Given the description of an element on the screen output the (x, y) to click on. 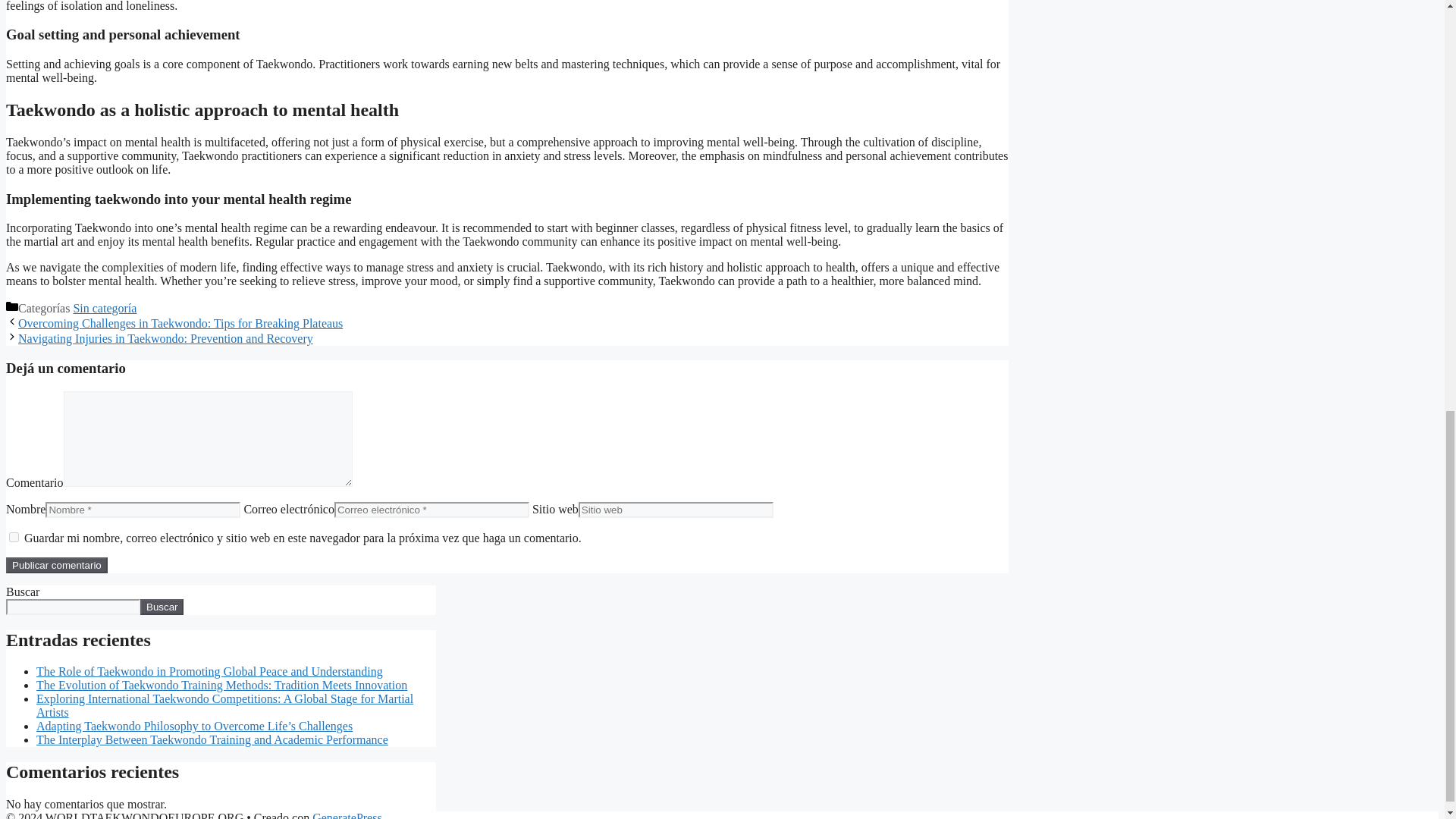
yes (13, 537)
Publicar comentario (56, 565)
Buscar (161, 606)
Navigating Injuries in Taekwondo: Prevention and Recovery (165, 338)
Publicar comentario (56, 565)
